Given the description of an element on the screen output the (x, y) to click on. 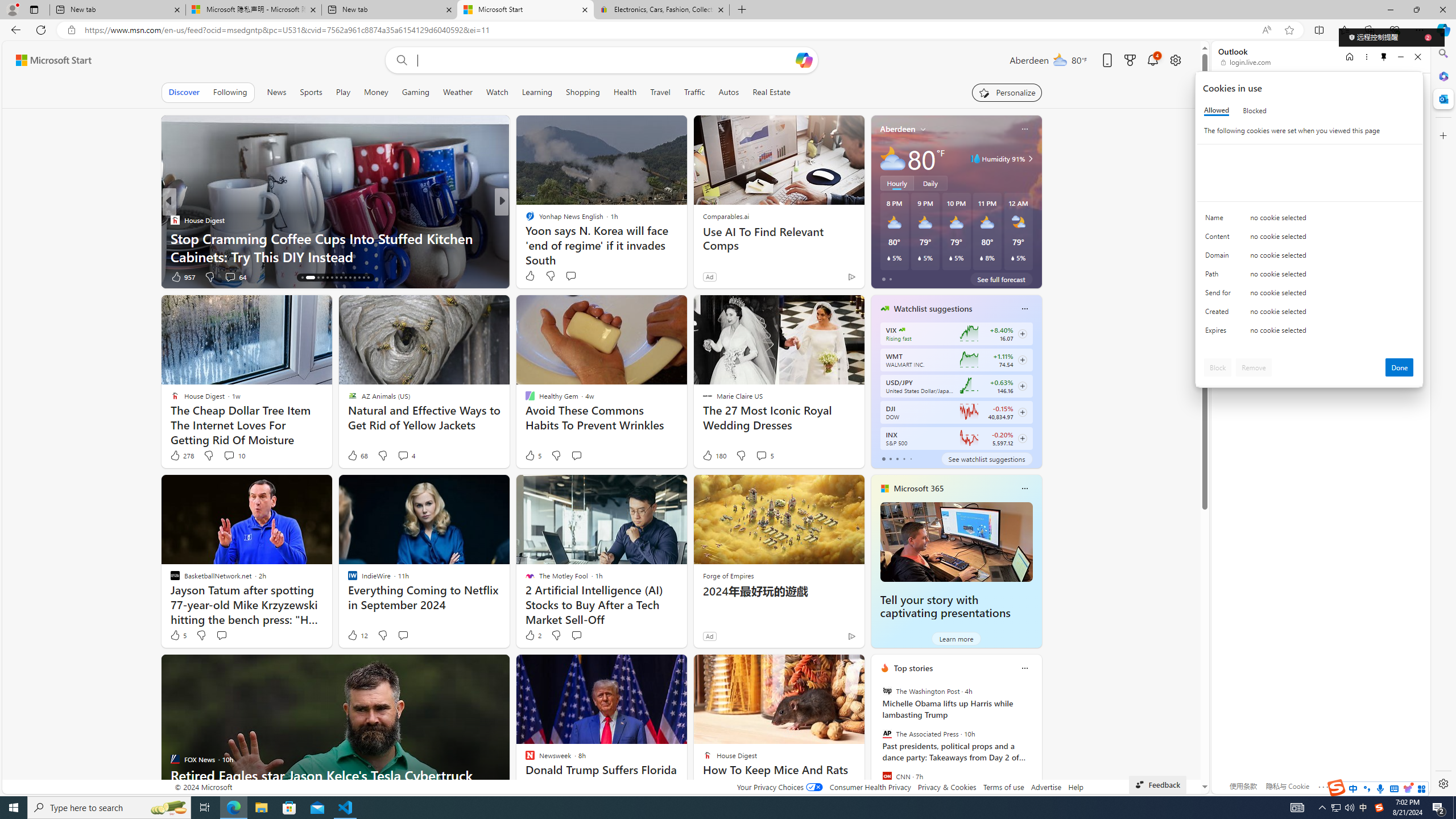
115 Like (532, 276)
View comments 165 Comment (580, 276)
Newsweek (524, 219)
AutomationID: tab-23 (345, 277)
Class: weather-arrow-glyph (1029, 158)
